Given the description of an element on the screen output the (x, y) to click on. 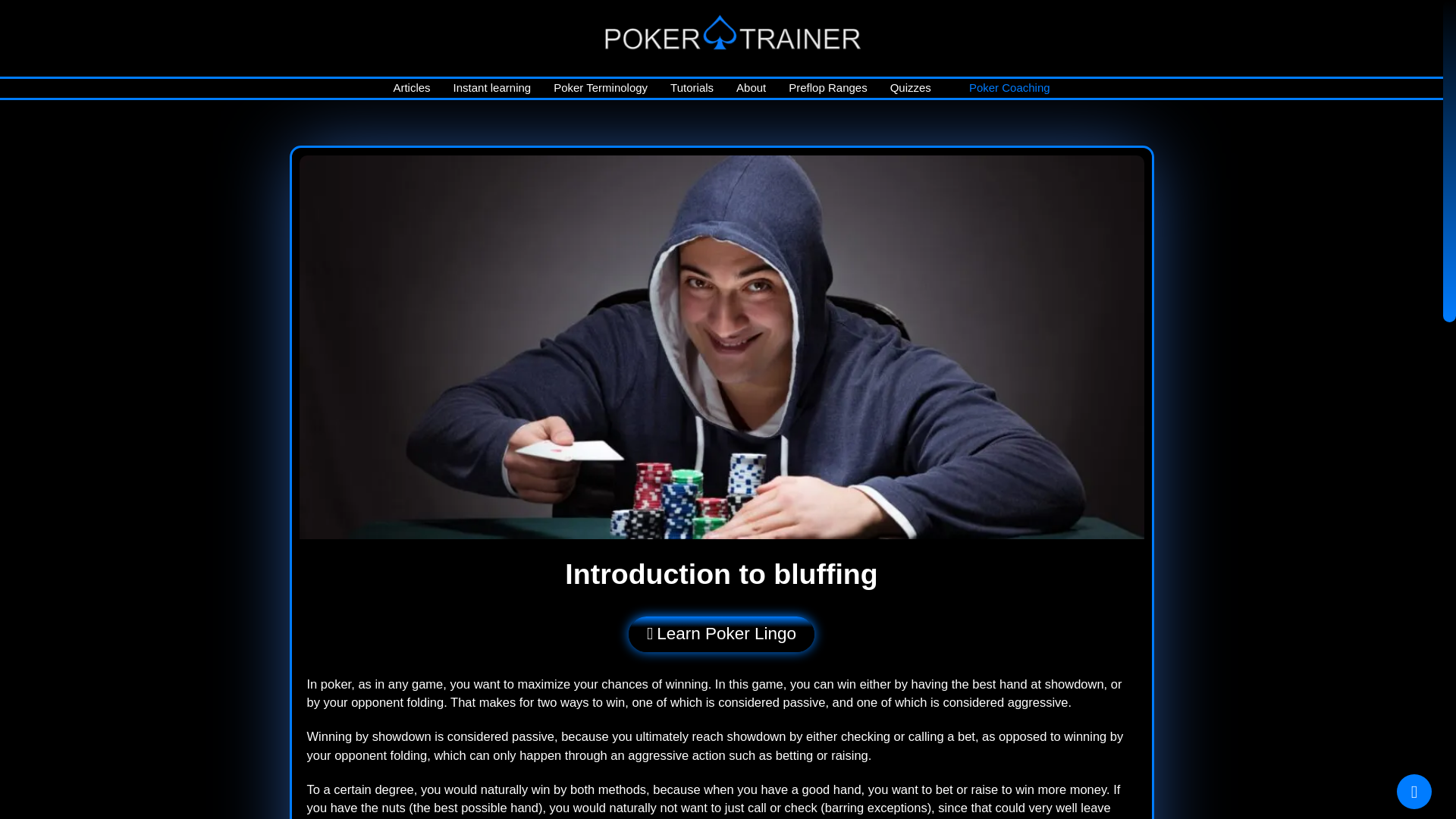
Preflop Ranges (827, 87)
Instant learning (492, 87)
Quizzes (910, 87)
Poker Terminology (600, 87)
Poker Coaching (1009, 87)
Learn Poker Lingo (720, 633)
Articles (411, 87)
Tutorials (692, 87)
About (751, 87)
